Given the description of an element on the screen output the (x, y) to click on. 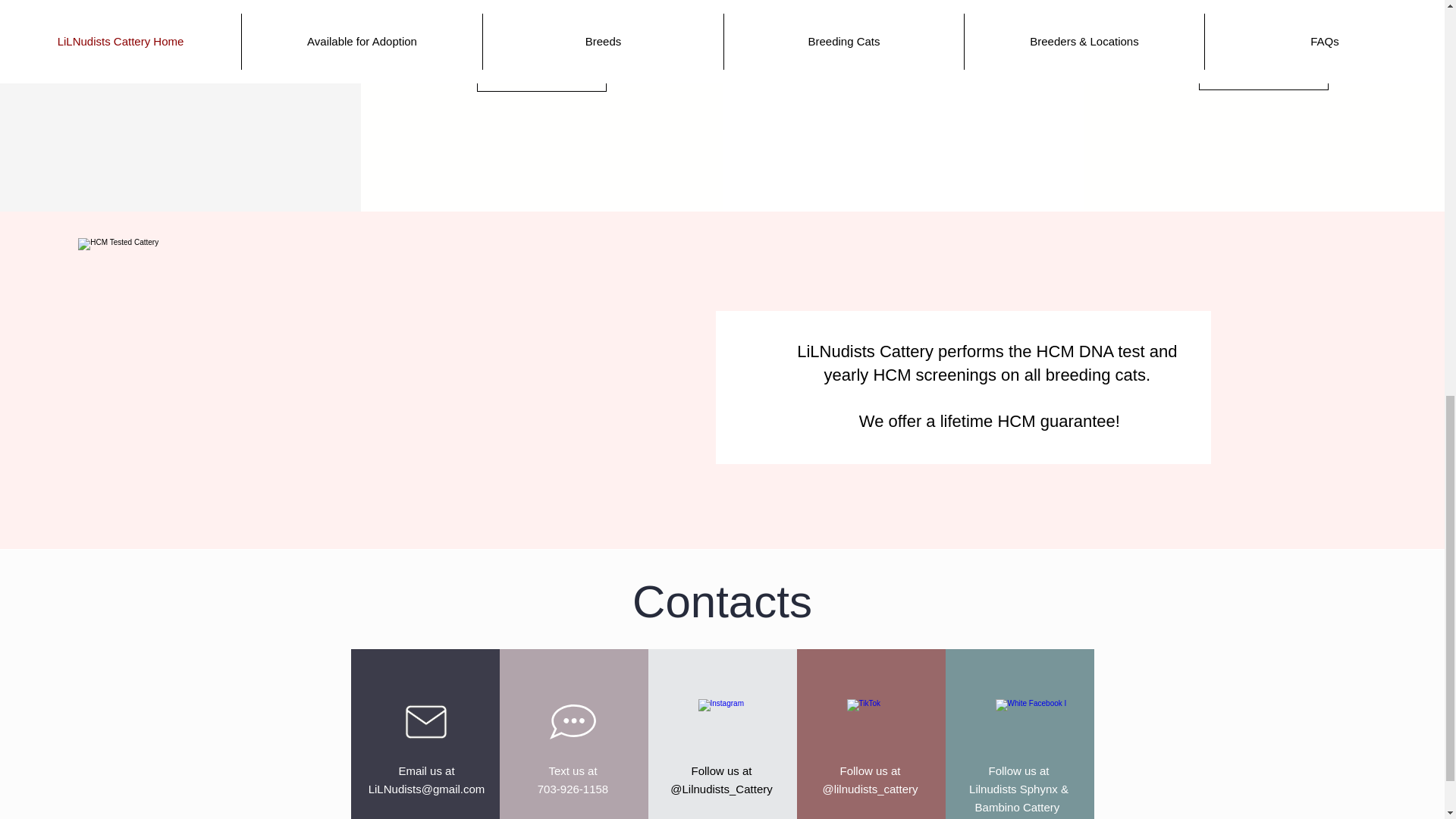
Learn More (572, 779)
Meet the Team (542, 76)
